Given the description of an element on the screen output the (x, y) to click on. 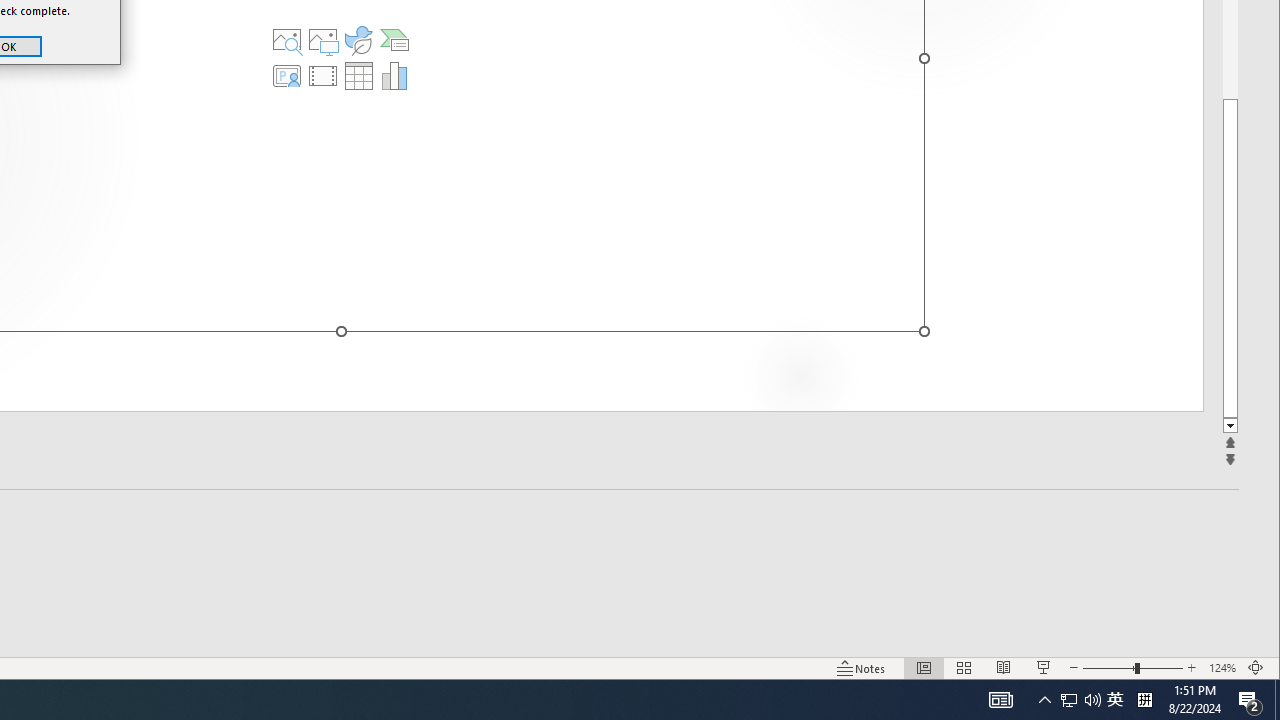
Insert a SmartArt Graphic (394, 39)
Insert Cameo (287, 75)
Insert Chart (394, 75)
